Given the description of an element on the screen output the (x, y) to click on. 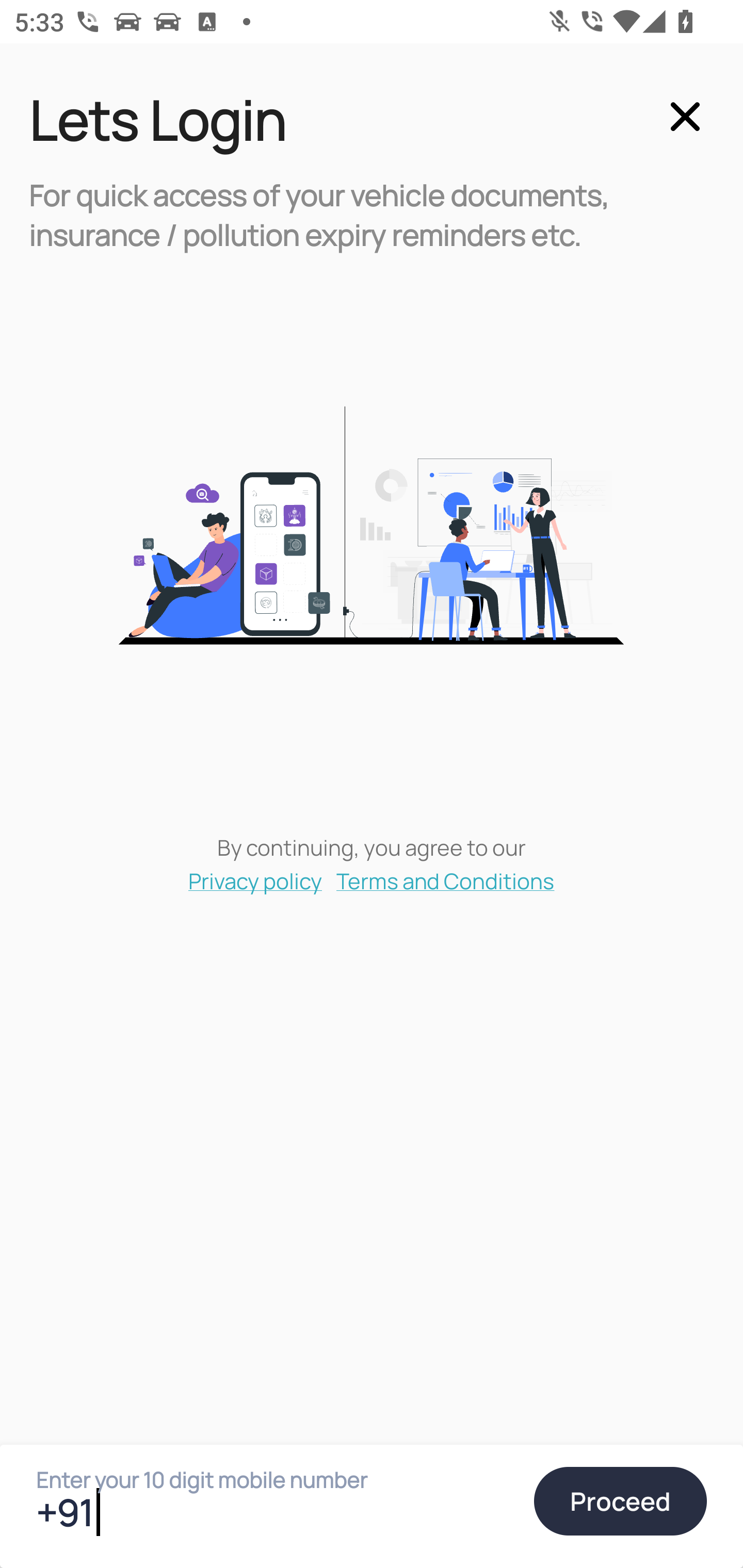
Privacy policy (254, 880)
Terms and Conditions (445, 880)
Proceed (620, 1501)
Enter your 10 digit mobile number (275, 1512)
